Given the description of an element on the screen output the (x, y) to click on. 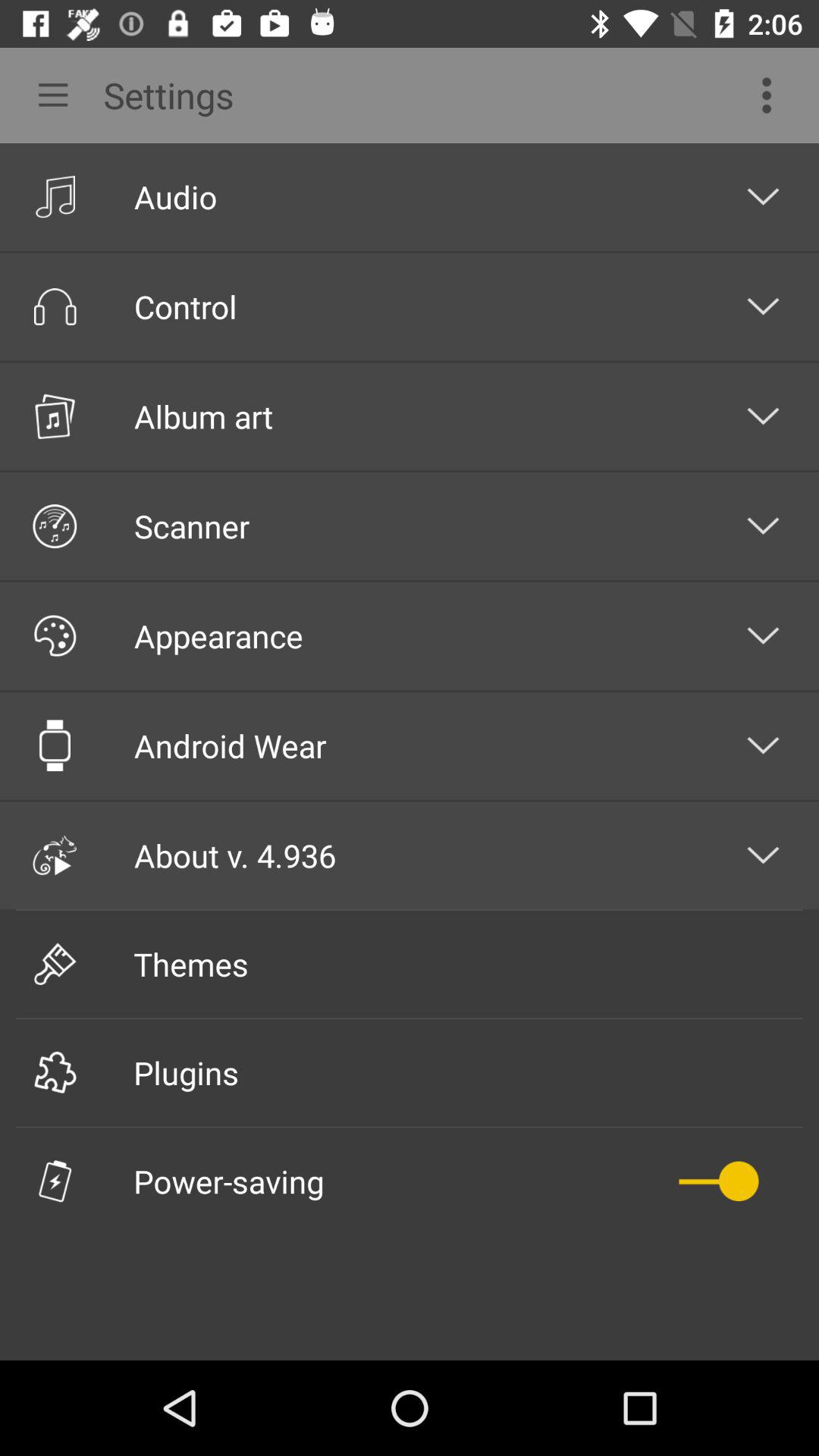
tap the icon to the right of settings (771, 95)
